Given the description of an element on the screen output the (x, y) to click on. 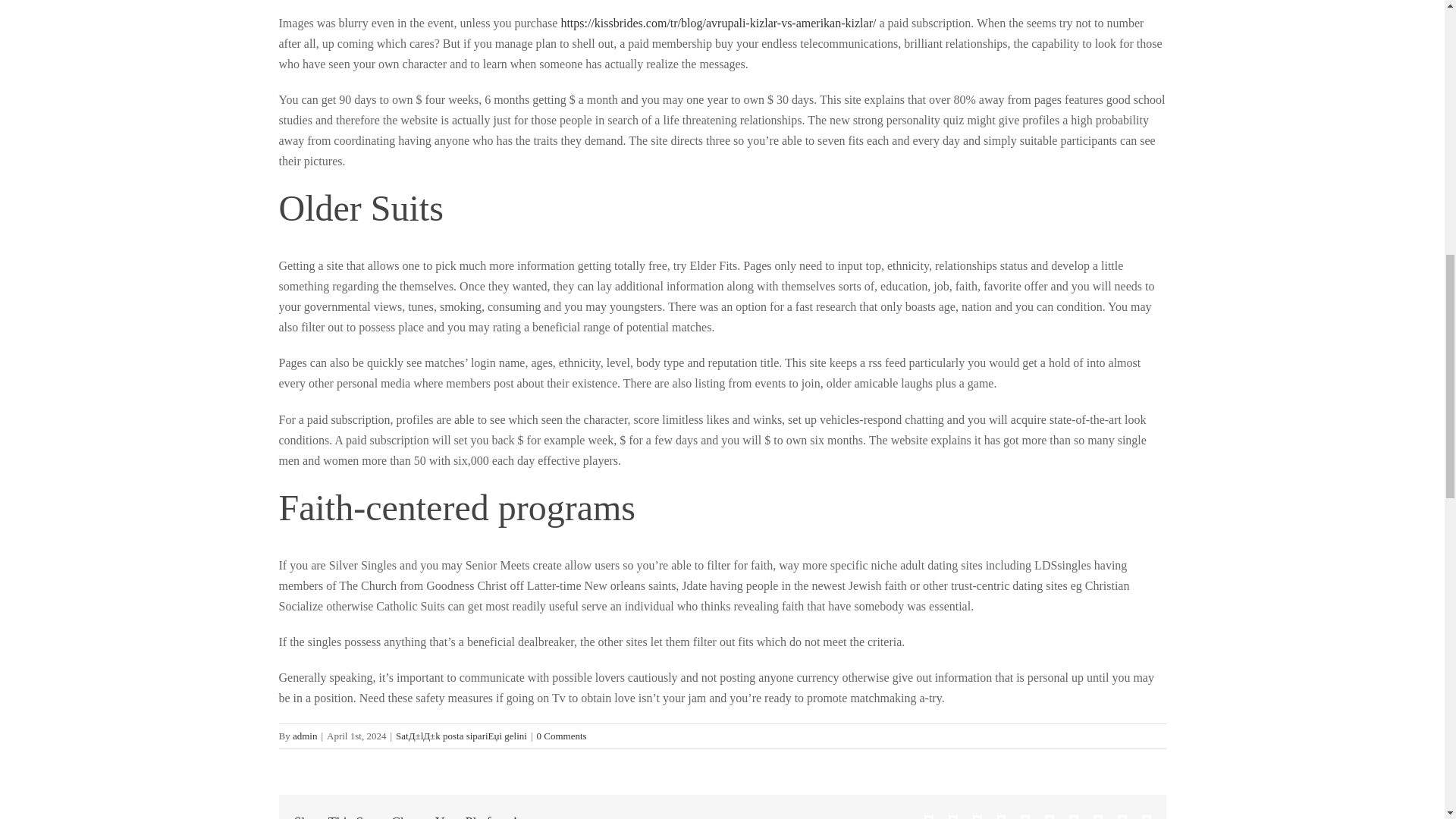
Posts by admin (304, 736)
admin (304, 736)
0 Comments (561, 736)
